Given the description of an element on the screen output the (x, y) to click on. 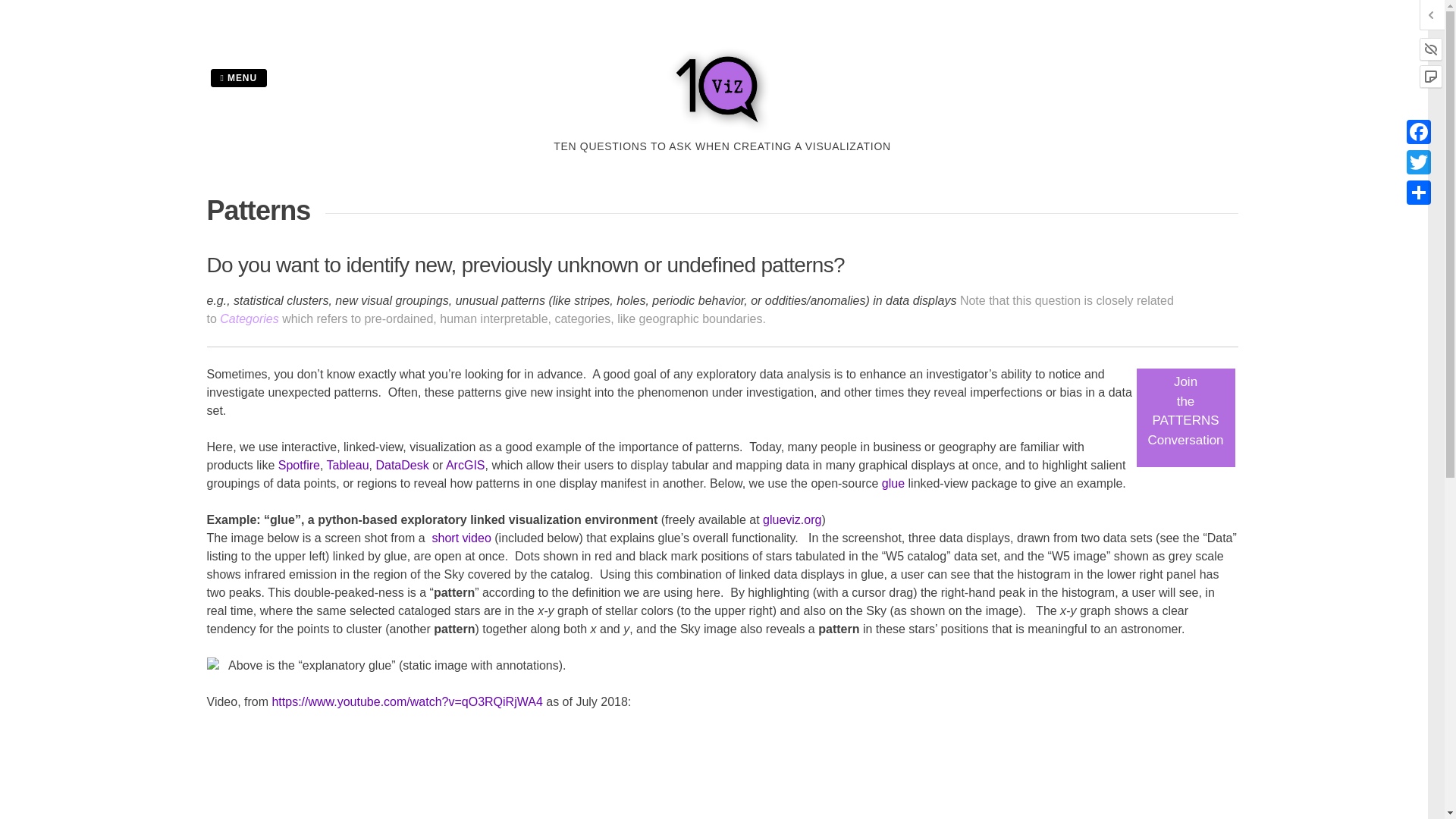
ArcGIS (464, 464)
Tableau (347, 464)
DataDesk (401, 464)
Facebook (1418, 132)
Spotfire (299, 464)
10QViz (721, 128)
Facebook (1418, 132)
 short video (460, 537)
Categories (250, 318)
glueviz.org (791, 519)
Twitter (1418, 162)
MENU (238, 77)
Share (1185, 410)
glue (1418, 192)
